Given the description of an element on the screen output the (x, y) to click on. 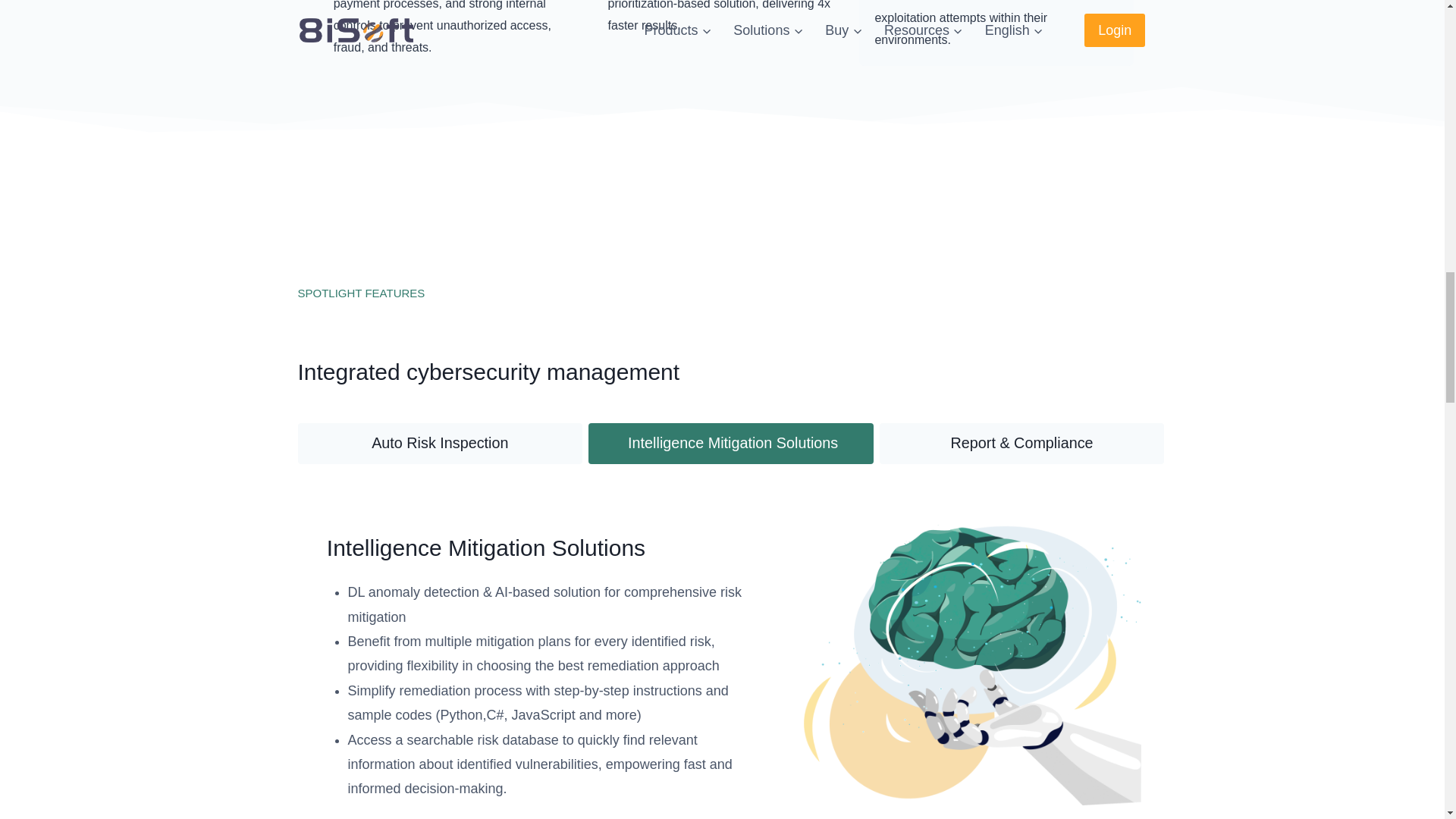
Auto Risk Inspection (439, 443)
 Intelligence Mitigation Solutions (730, 443)
